Given the description of an element on the screen output the (x, y) to click on. 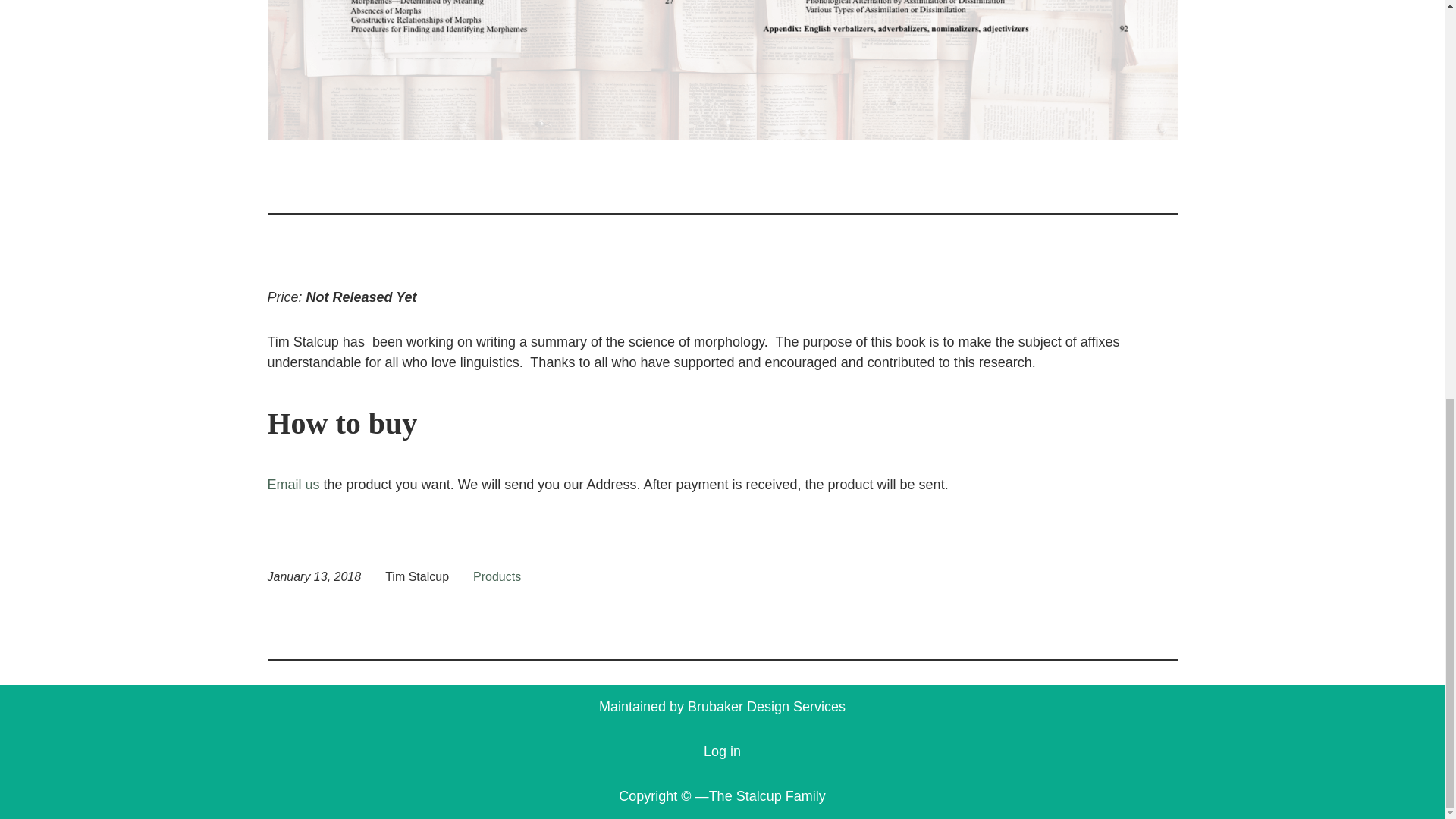
Brubaker Design Services (766, 706)
Products (497, 576)
Log in (722, 751)
Email us (292, 484)
